Given the description of an element on the screen output the (x, y) to click on. 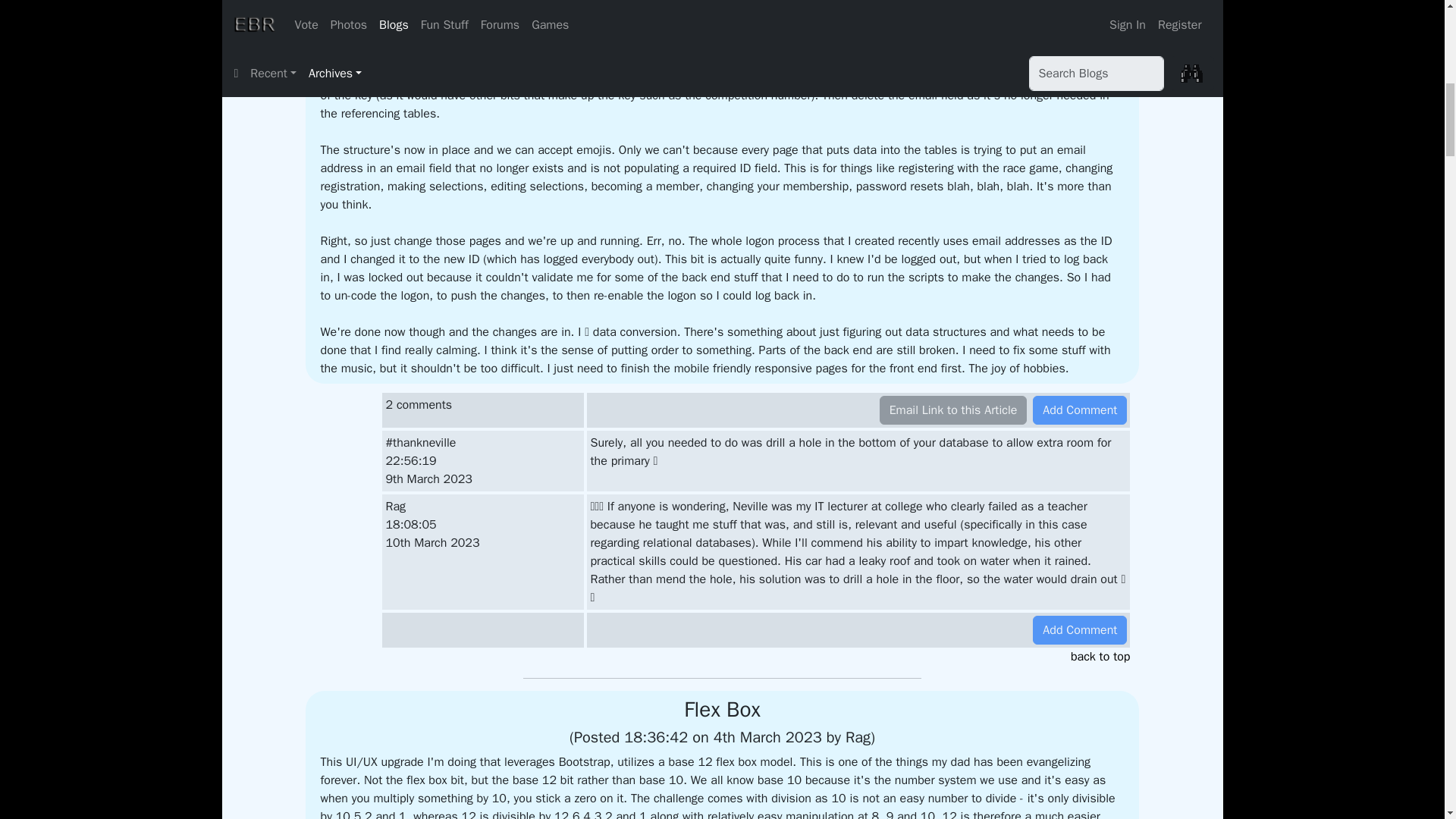
Add Comment (1079, 629)
Add Comment (1079, 629)
Add Comment (1079, 410)
Add Comment (1079, 410)
back to top (721, 656)
Email Link to this Article (953, 410)
